Given the description of an element on the screen output the (x, y) to click on. 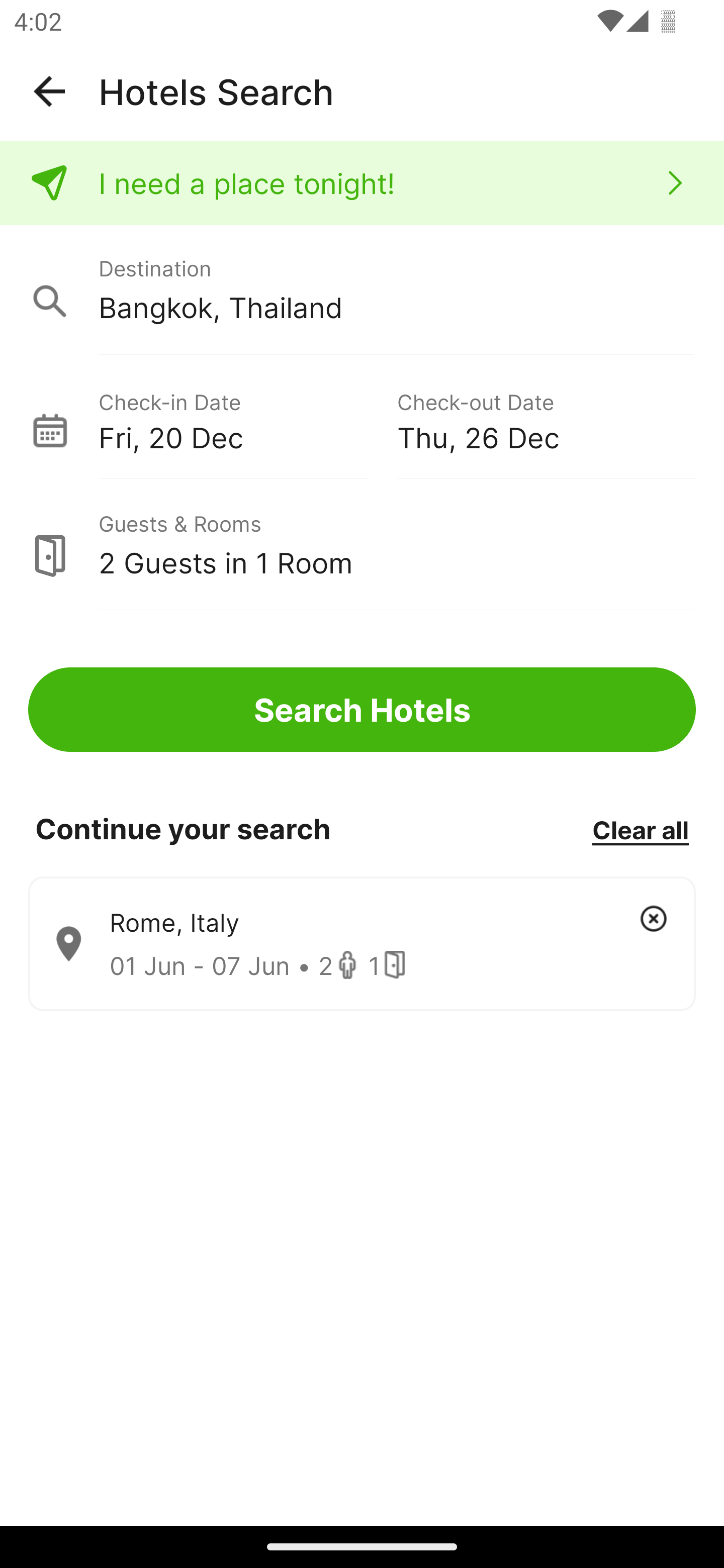
I need a place tonight! (362, 183)
Destination Bangkok, Thailand (362, 290)
Check-in Date Fri, 20 Dec (247, 418)
Check-out Date Thu, 26 Dec (546, 418)
Guests & Rooms 2 Guests in 1 Room (362, 545)
Search Hotels (361, 709)
Clear all (640, 829)
Rome, Italy 01 Jun - 07 Jun • 2  1  (361, 943)
